Given the description of an element on the screen output the (x, y) to click on. 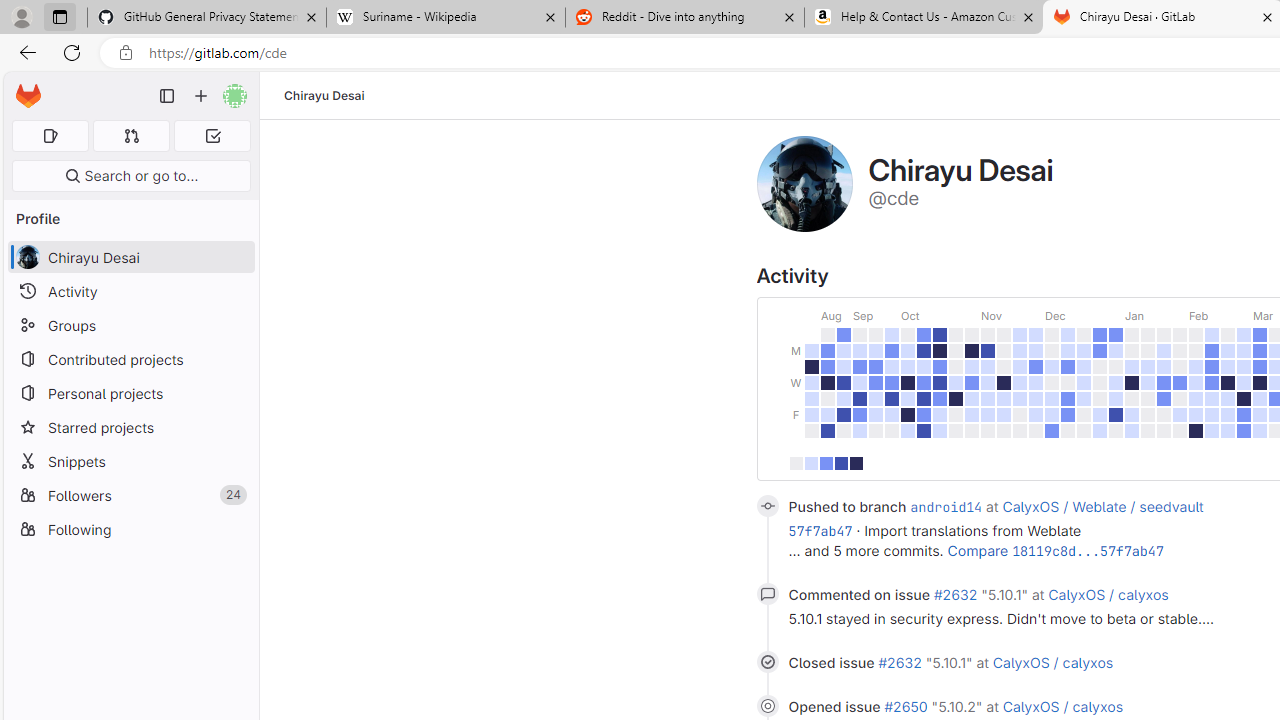
To-Do list 0 (212, 136)
1-9 contributions (810, 463)
